Given the description of an element on the screen output the (x, y) to click on. 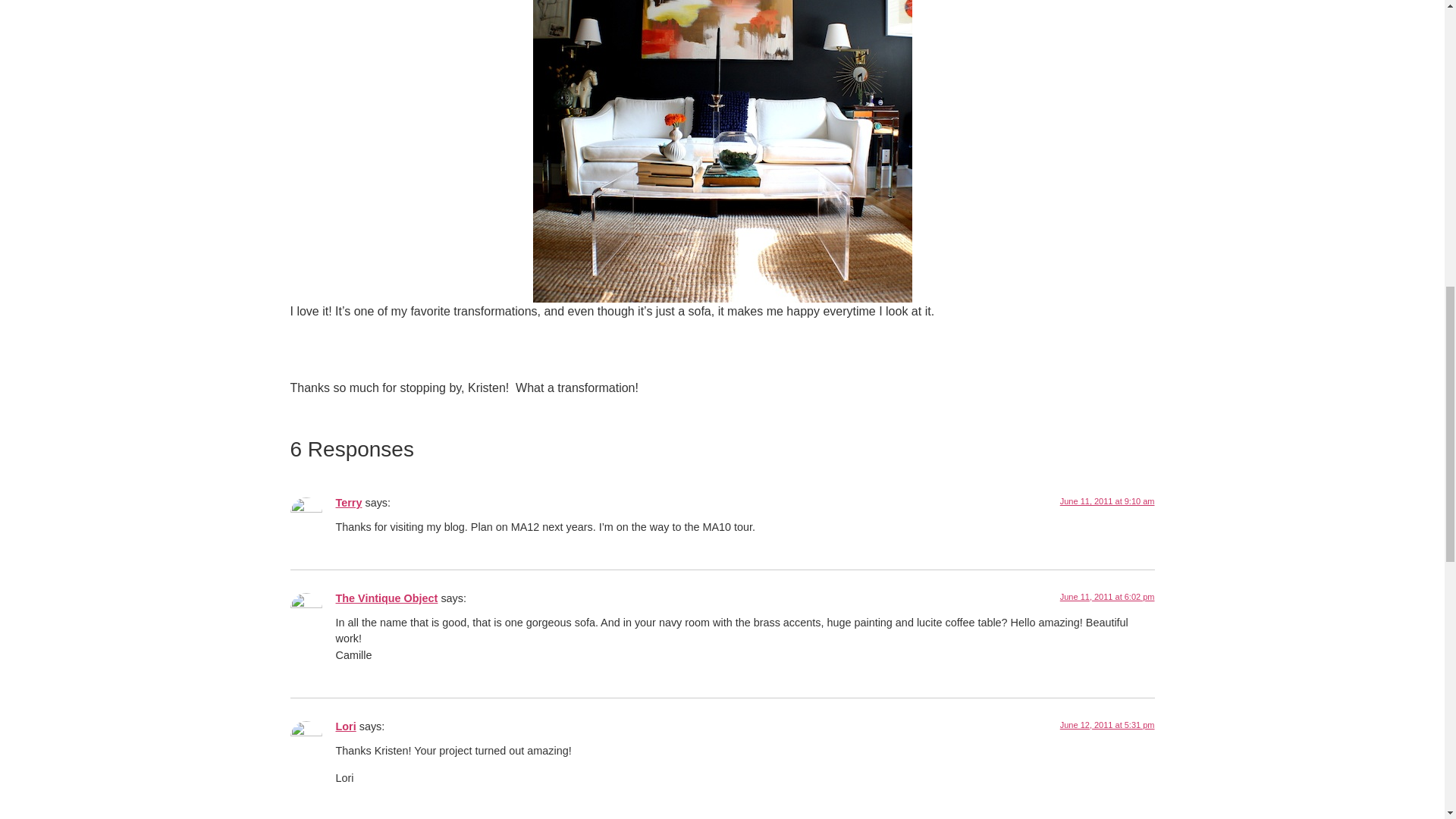
guest post 2 (721, 151)
June 12, 2011 at 5:31 pm (1106, 724)
The Vintique Object (386, 598)
June 11, 2011 at 9:10 am (1106, 501)
Terry (347, 502)
June 11, 2011 at 6:02 pm (1106, 596)
Lori (344, 726)
